Given the description of an element on the screen output the (x, y) to click on. 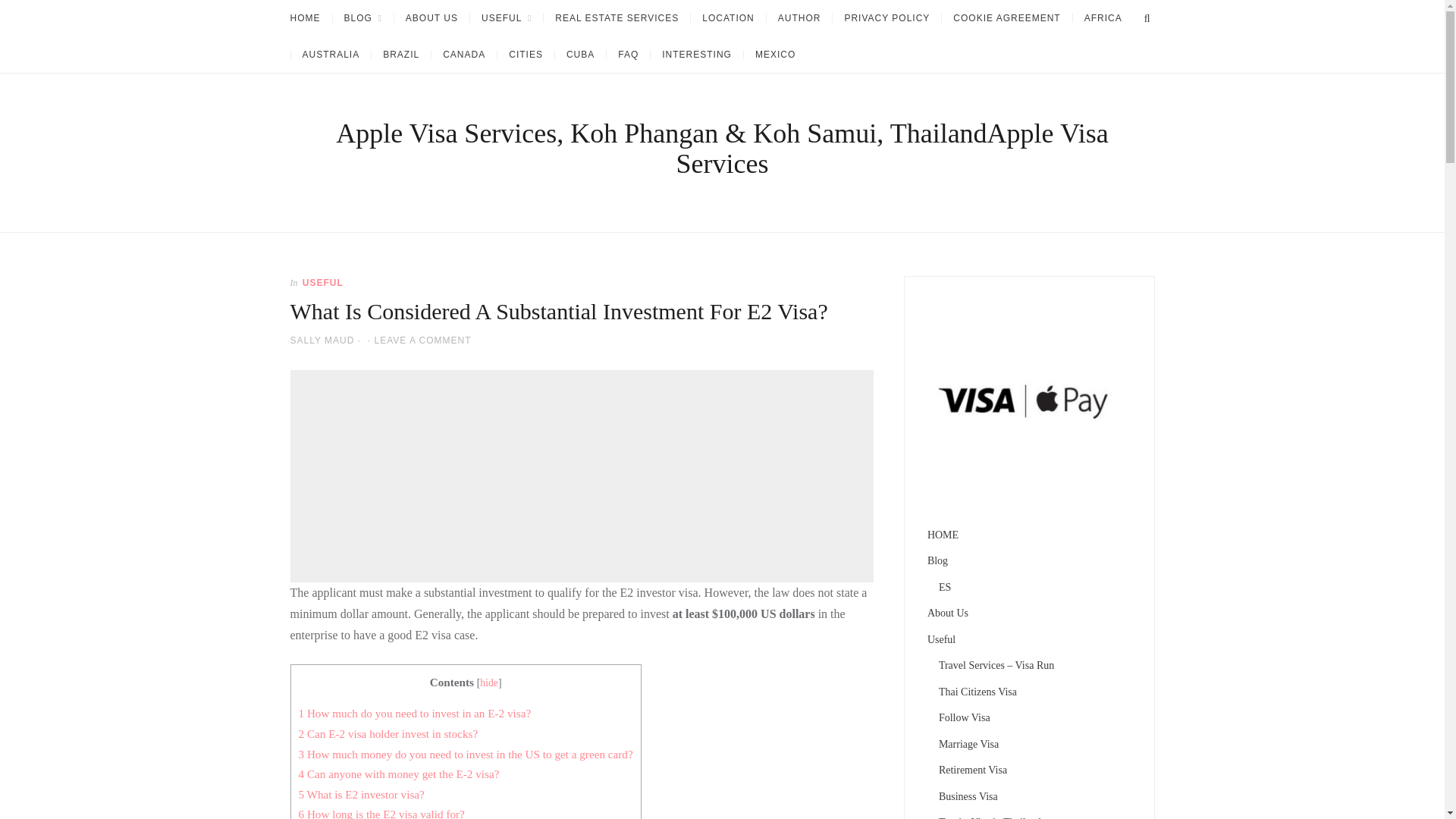
CITIES (525, 53)
LOCATION (727, 17)
1 How much do you need to invest in an E-2 visa? (414, 712)
BRAZIL (400, 53)
2 Can E-2 visa holder invest in stocks? (388, 733)
SALLY MAUD (321, 339)
LEAVE A COMMENT (422, 339)
INTERESTING (695, 53)
MEXICO (774, 53)
FAQ (627, 53)
